Given the description of an element on the screen output the (x, y) to click on. 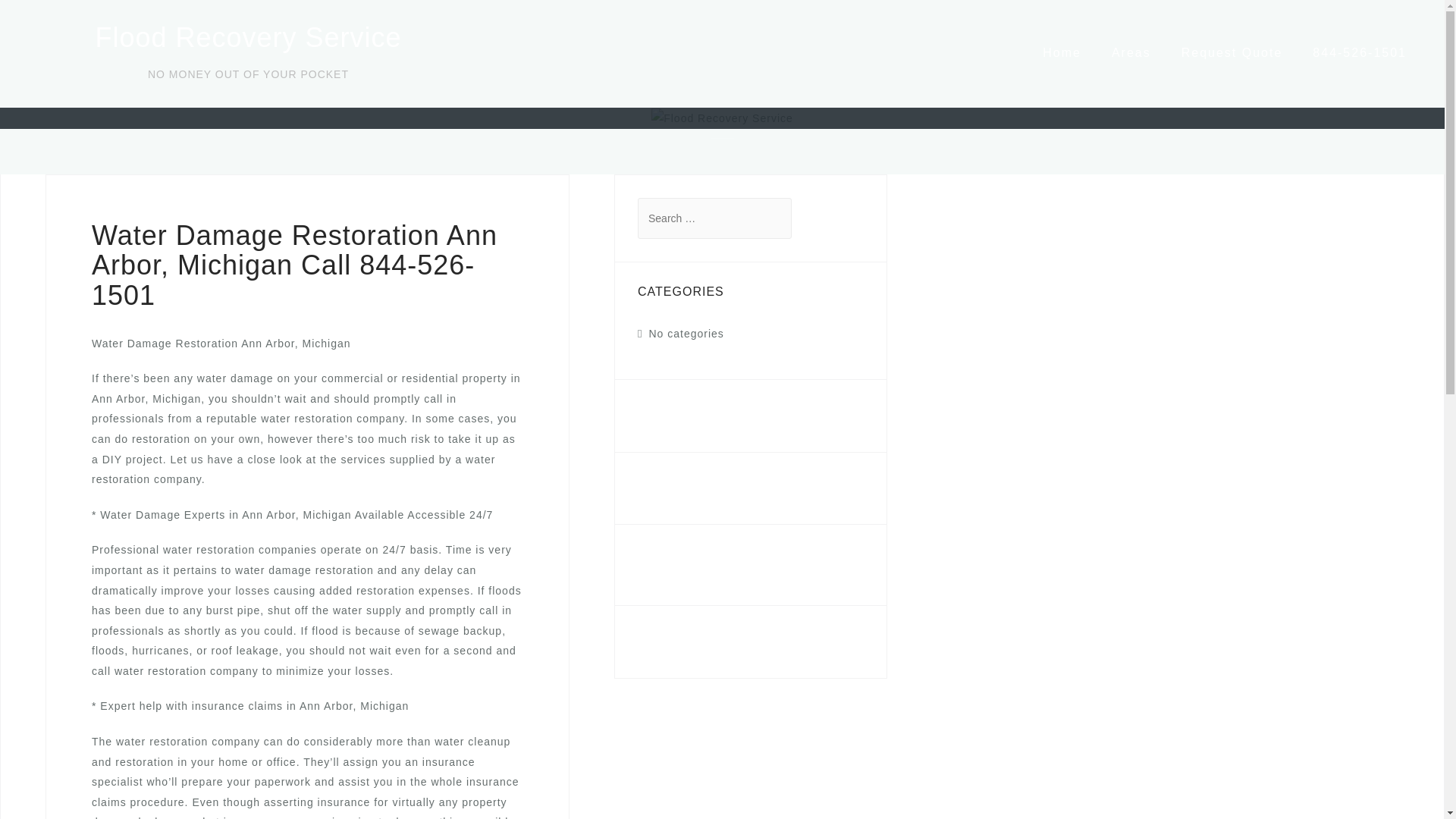
OUR BLOG (676, 415)
Home (1061, 52)
REQUEST A QUOTE (707, 641)
Flood Recovery Service (247, 37)
Search (54, 20)
844-526-1501 (675, 557)
844-526-1501 (1359, 52)
Request Quote (1231, 52)
LOCATIONS (679, 488)
Areas (1131, 52)
